Given the description of an element on the screen output the (x, y) to click on. 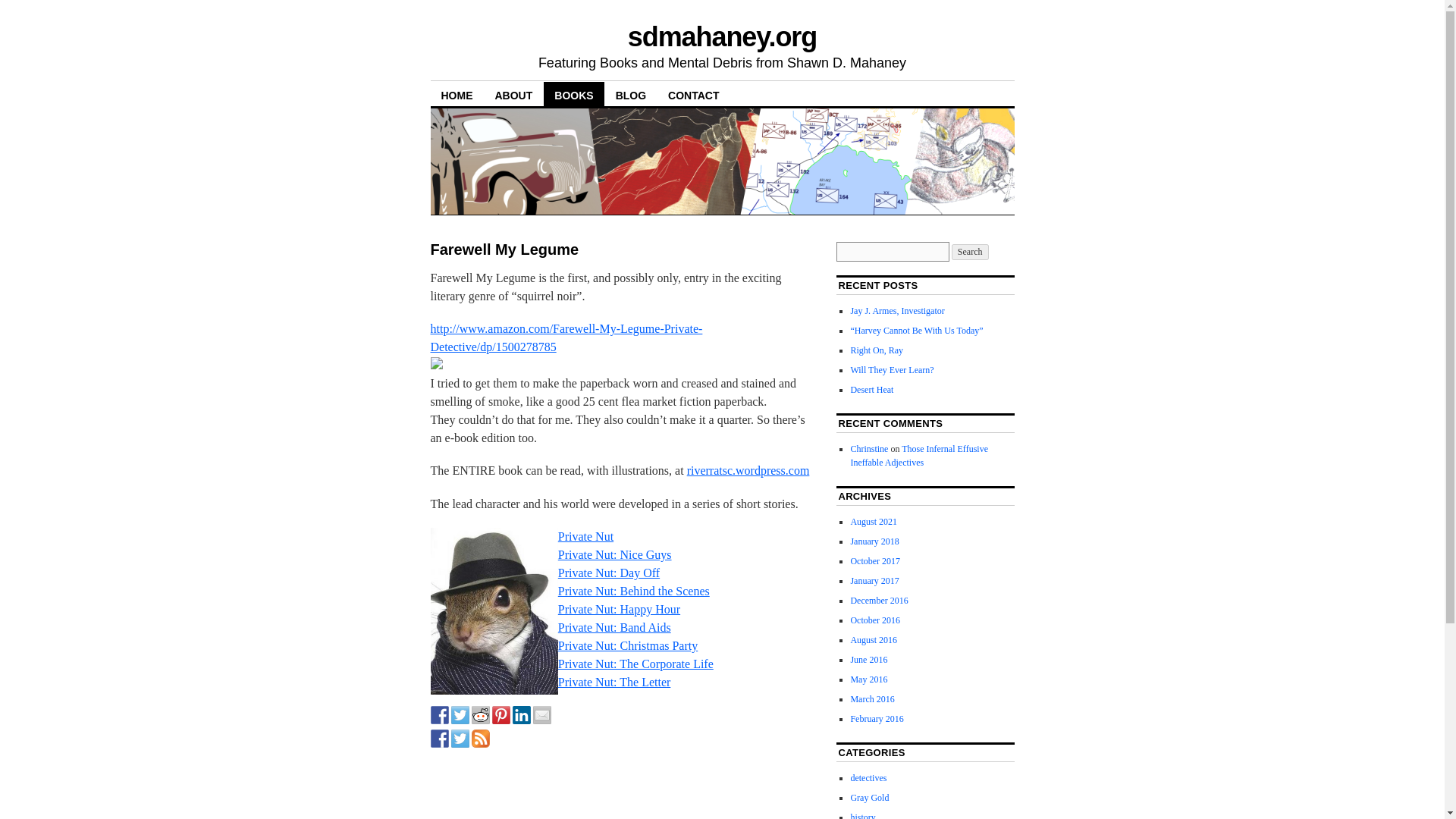
Share by email (541, 714)
Private Nut: The Letter (614, 681)
sdmahaney.org (721, 36)
Private Nut: Happy Hour (618, 608)
Pin it with Pinterest (500, 714)
Private Nut: Band Aids (614, 626)
BLOG (630, 93)
Will They Ever Learn? (891, 368)
Share on Twitter (458, 714)
Share on Linkedin (521, 714)
